Given the description of an element on the screen output the (x, y) to click on. 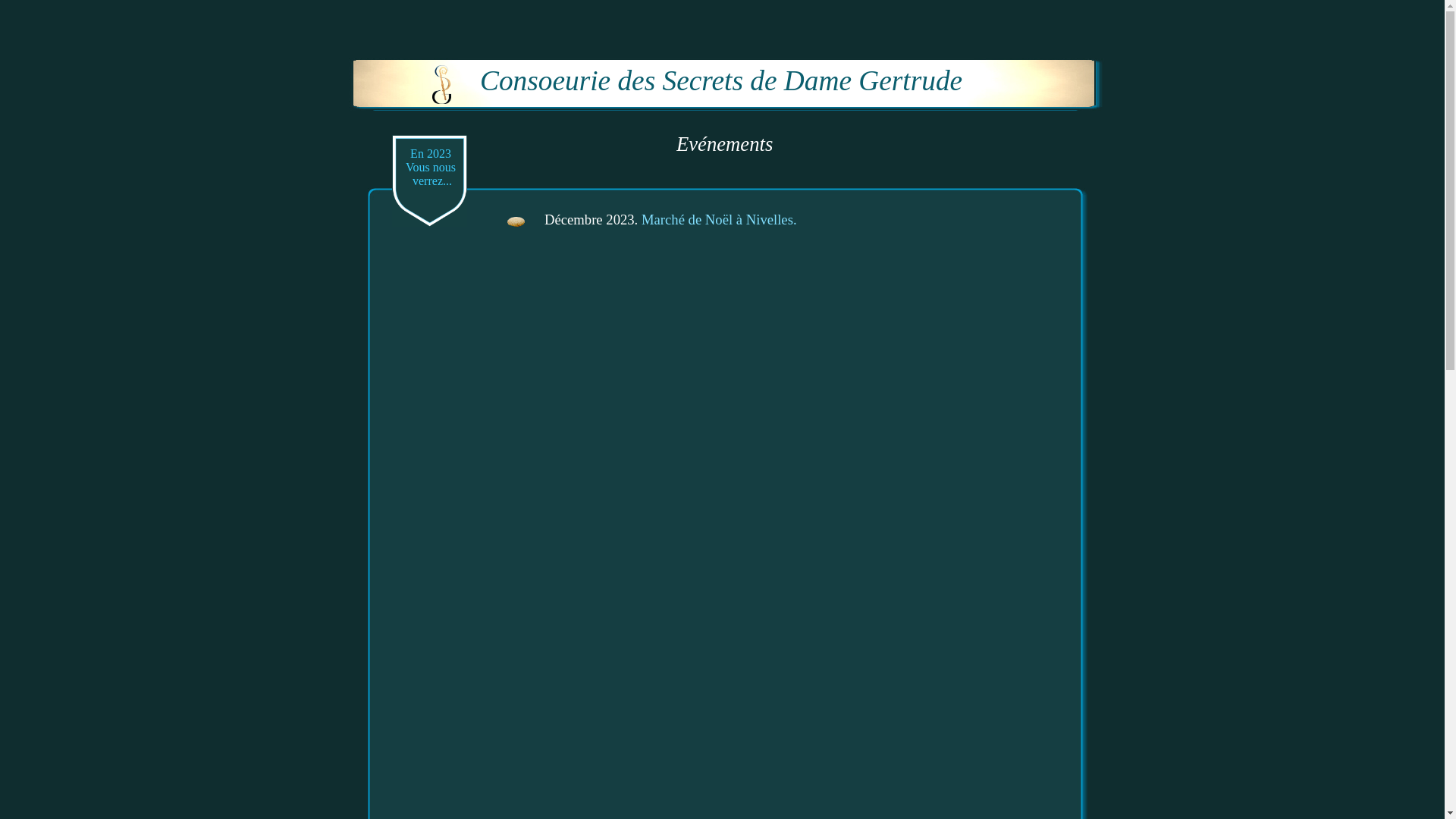
Accueil Element type: hover (441, 84)
